Given the description of an element on the screen output the (x, y) to click on. 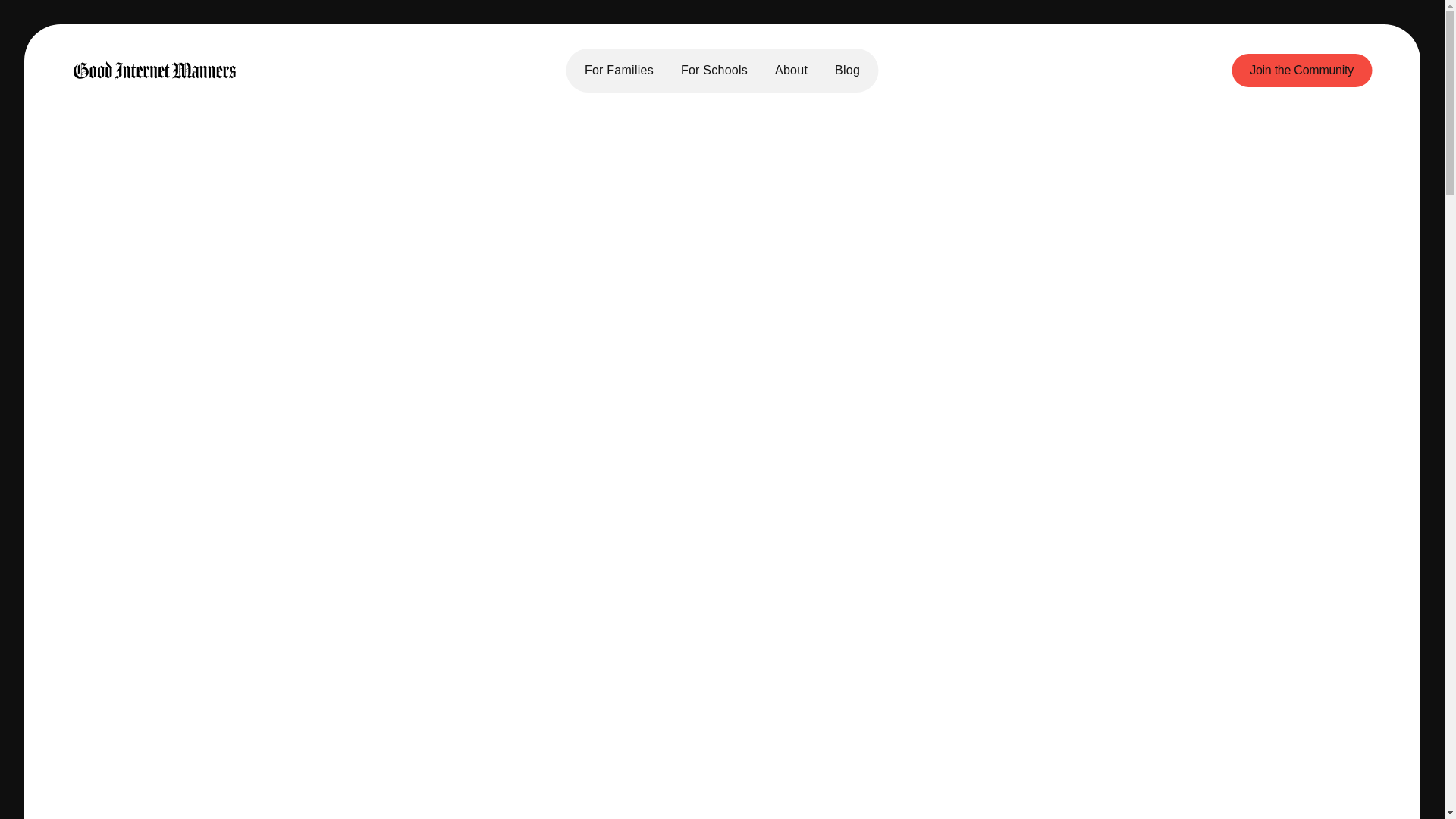
Blog (847, 70)
For Schools (560, 690)
For Families (561, 661)
For Schools (714, 70)
Home (543, 603)
Community (559, 719)
Instagram (967, 603)
Whiteboard (772, 786)
Join the Community (1301, 70)
About (543, 632)
For Families (618, 70)
About (790, 70)
